Given the description of an element on the screen output the (x, y) to click on. 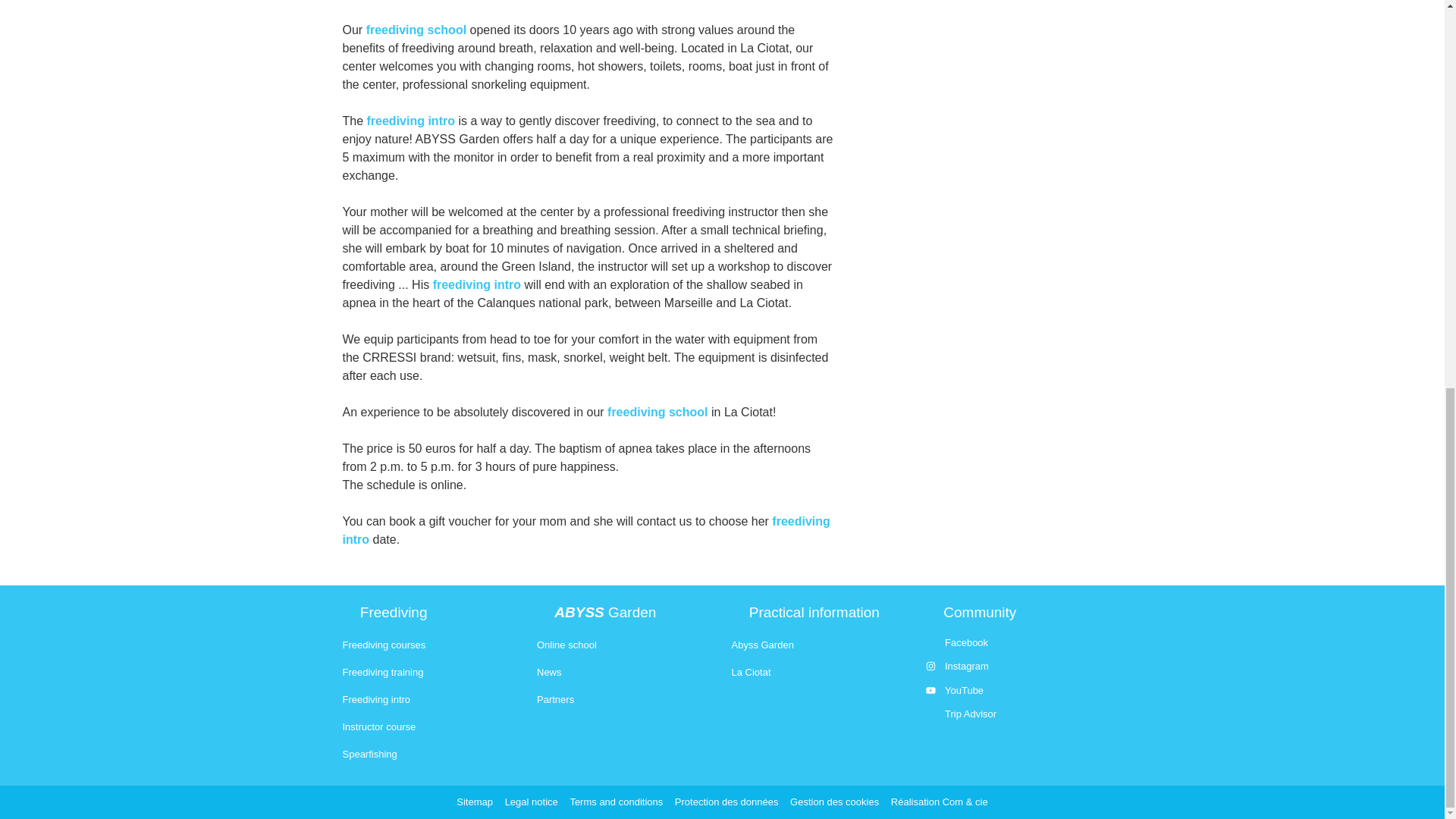
Freediving intro (376, 699)
YouTube (1014, 690)
Abyss Garden (761, 644)
Freediving training (382, 672)
Partners (555, 699)
Sitemap (475, 801)
Gestion des cookies (834, 801)
Instructor course (379, 726)
La Ciotat (750, 672)
Spearfishing (369, 754)
